Given the description of an element on the screen output the (x, y) to click on. 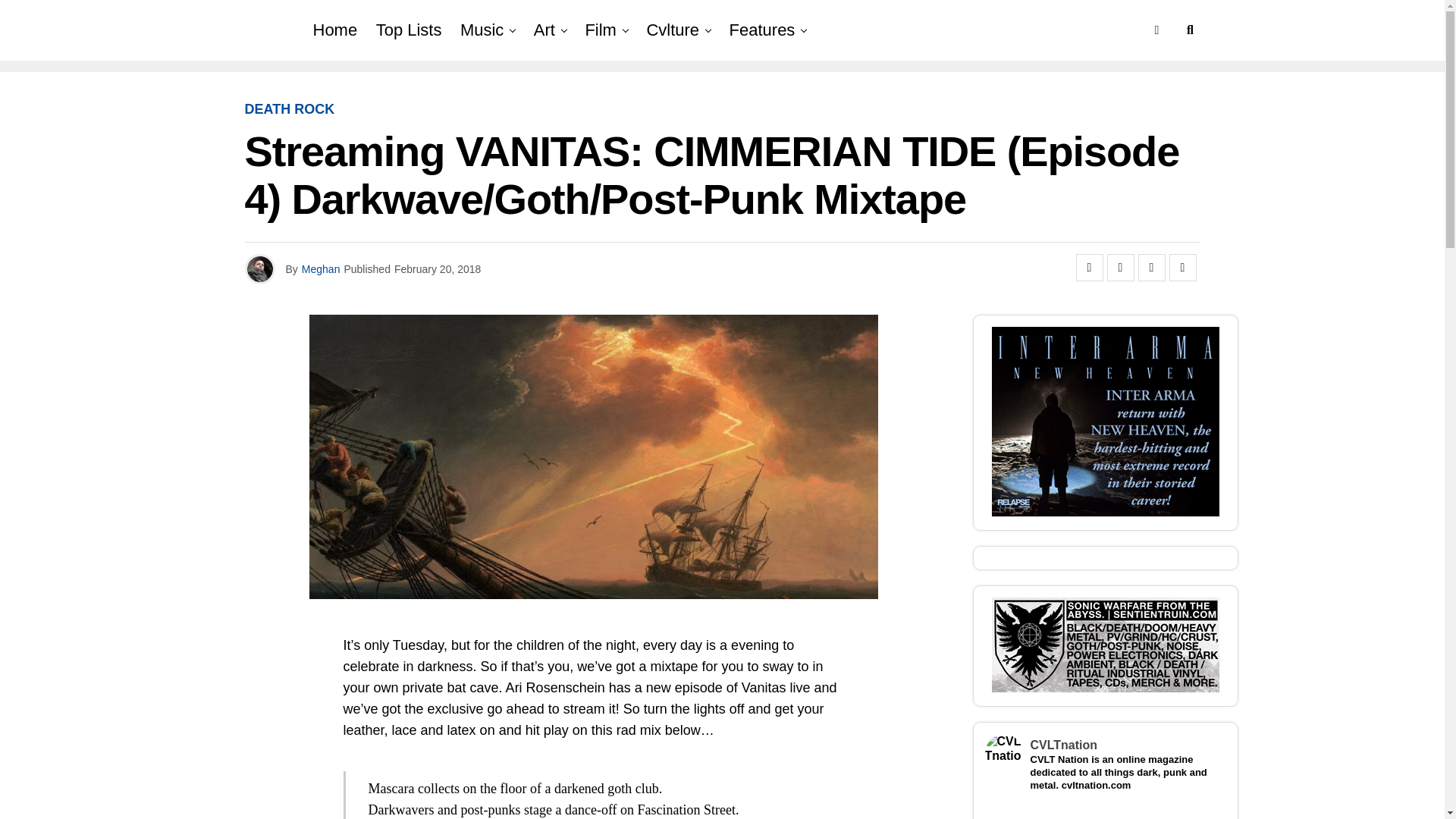
Posts by Meghan (320, 268)
Share on Facebook (1088, 267)
Tweet This Post (1120, 267)
Share on Flipboard (1150, 267)
